Given the description of an element on the screen output the (x, y) to click on. 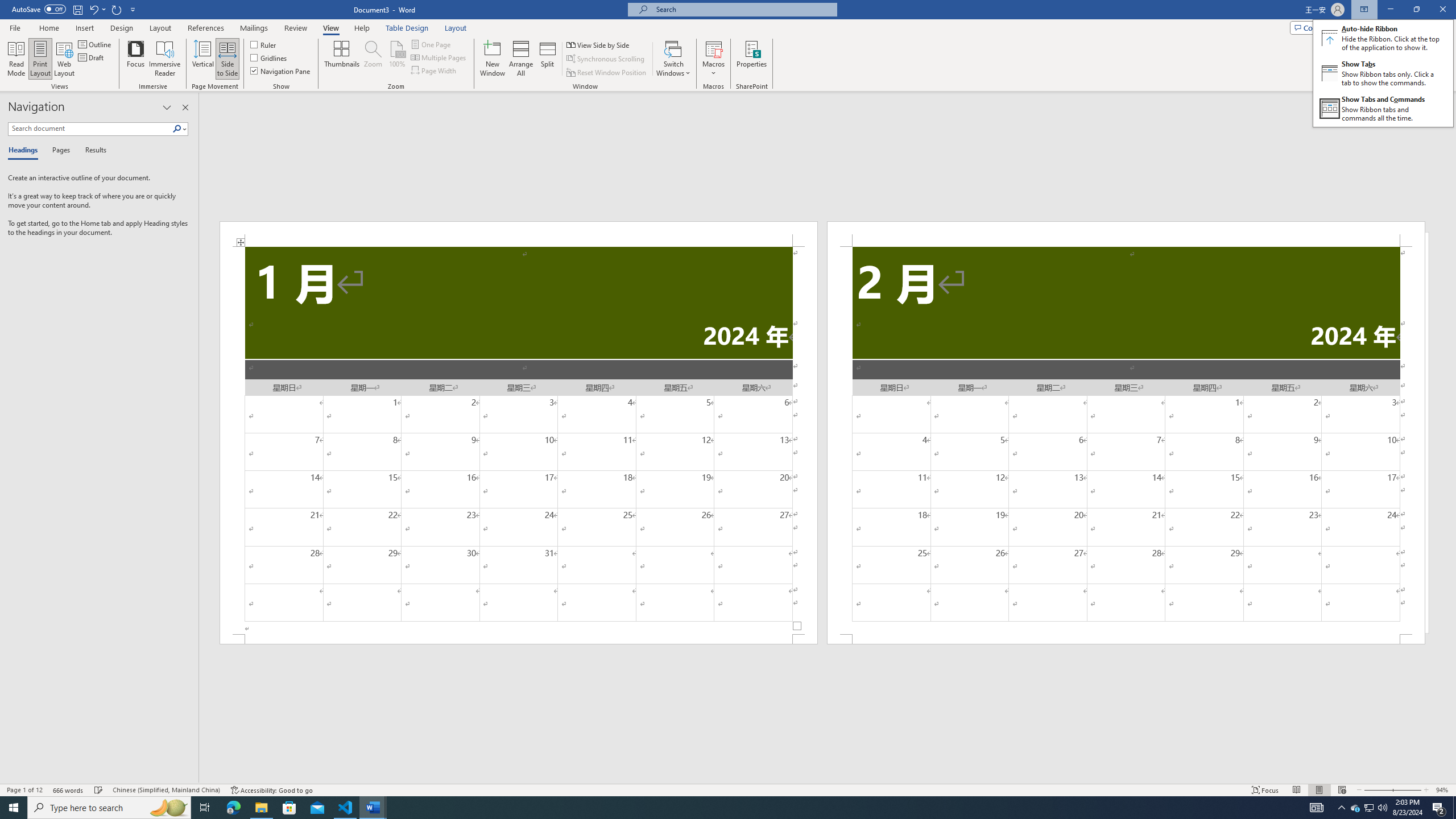
Search document (89, 128)
AutoSave (38, 9)
Pages (59, 150)
Mailings (253, 28)
Type here to search (108, 807)
Spelling and Grammar Check Checking (98, 790)
Footer -Section 2- (1126, 638)
Read Mode (1296, 790)
View (330, 28)
Task Pane Options (167, 107)
Vertical (202, 58)
References (205, 28)
